Given the description of an element on the screen output the (x, y) to click on. 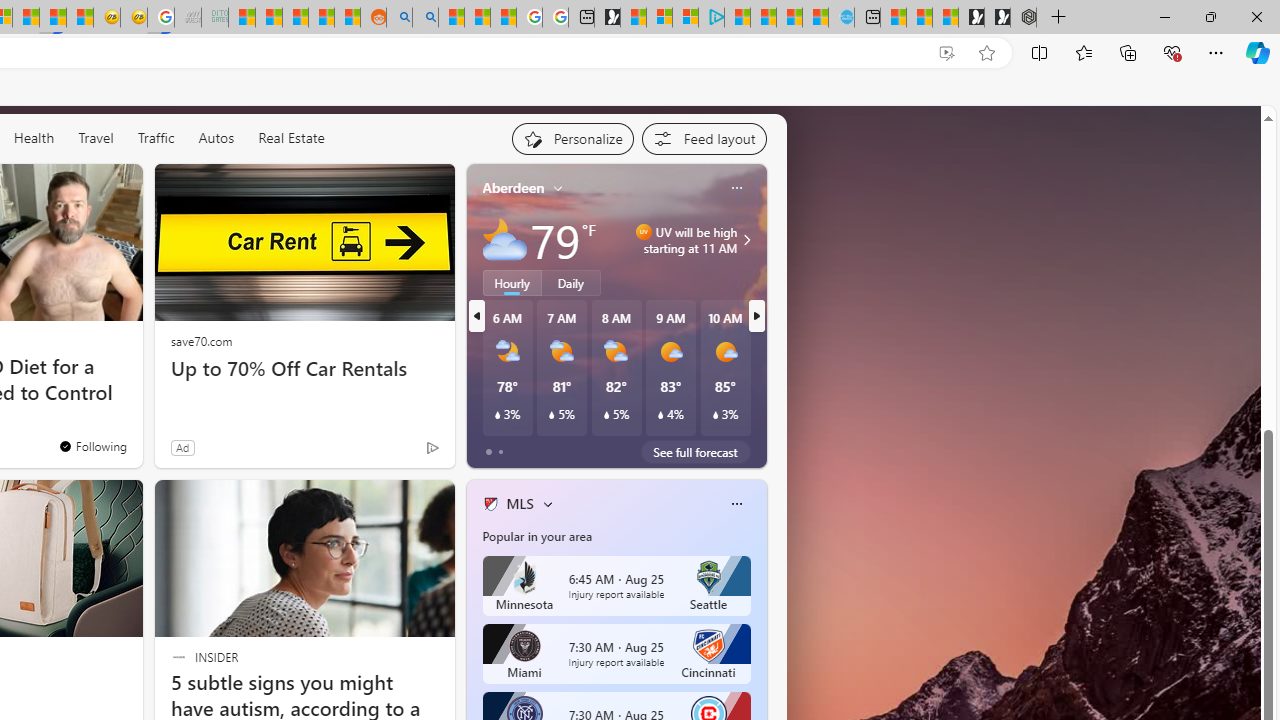
Health (33, 138)
Real Estate (290, 138)
Class: weather-current-precipitation-glyph (715, 415)
Class: icon-img (736, 503)
